Given the description of an element on the screen output the (x, y) to click on. 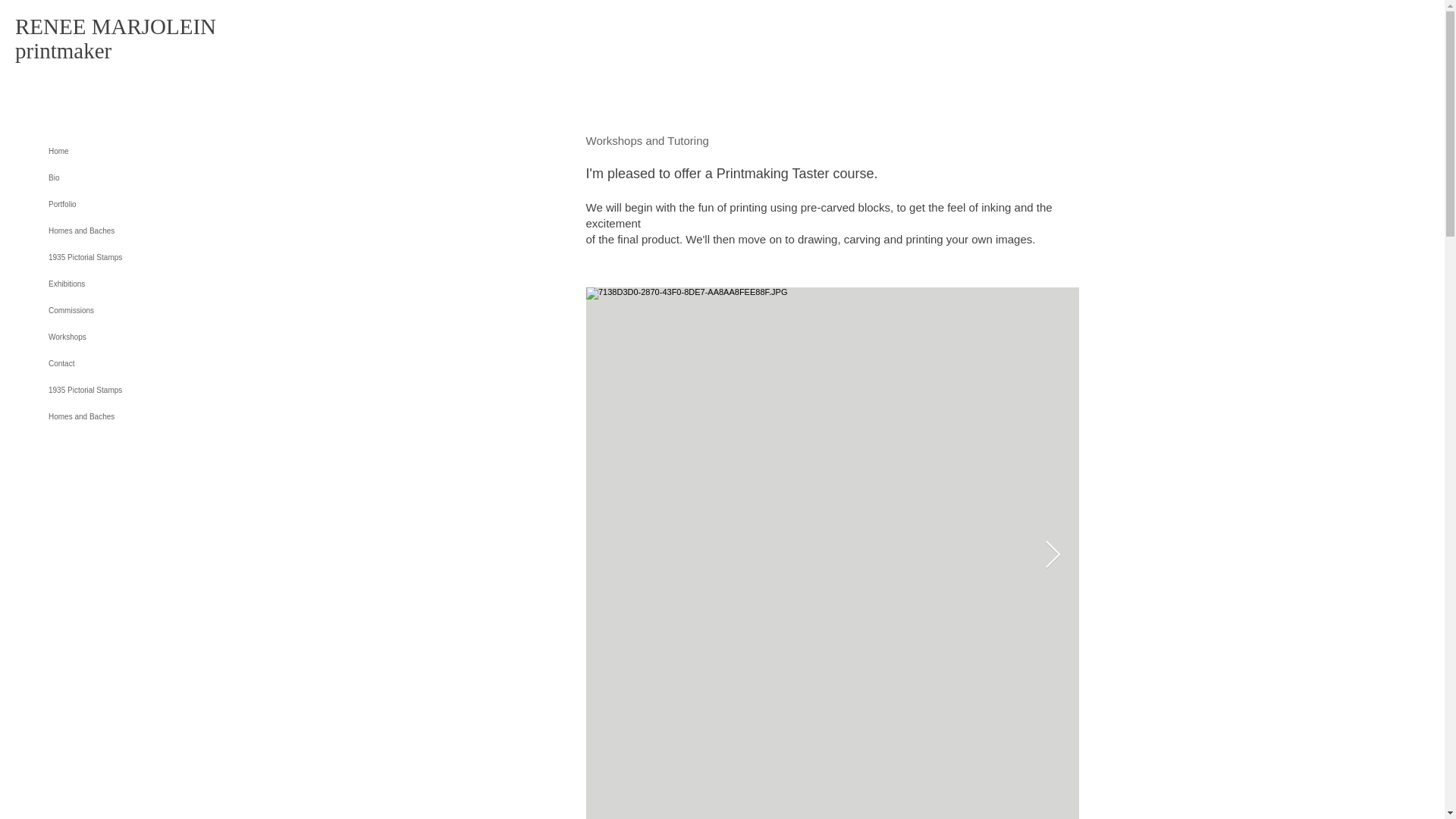
Contact (116, 363)
Homes and Baches (116, 230)
Home (116, 151)
Commissions (116, 310)
Portfolio (116, 203)
1935 Pictorial Stamps (116, 389)
Bio (116, 177)
Workshops (116, 336)
1935 Pictorial Stamps (116, 257)
Homes and Baches (116, 416)
